Given the description of an element on the screen output the (x, y) to click on. 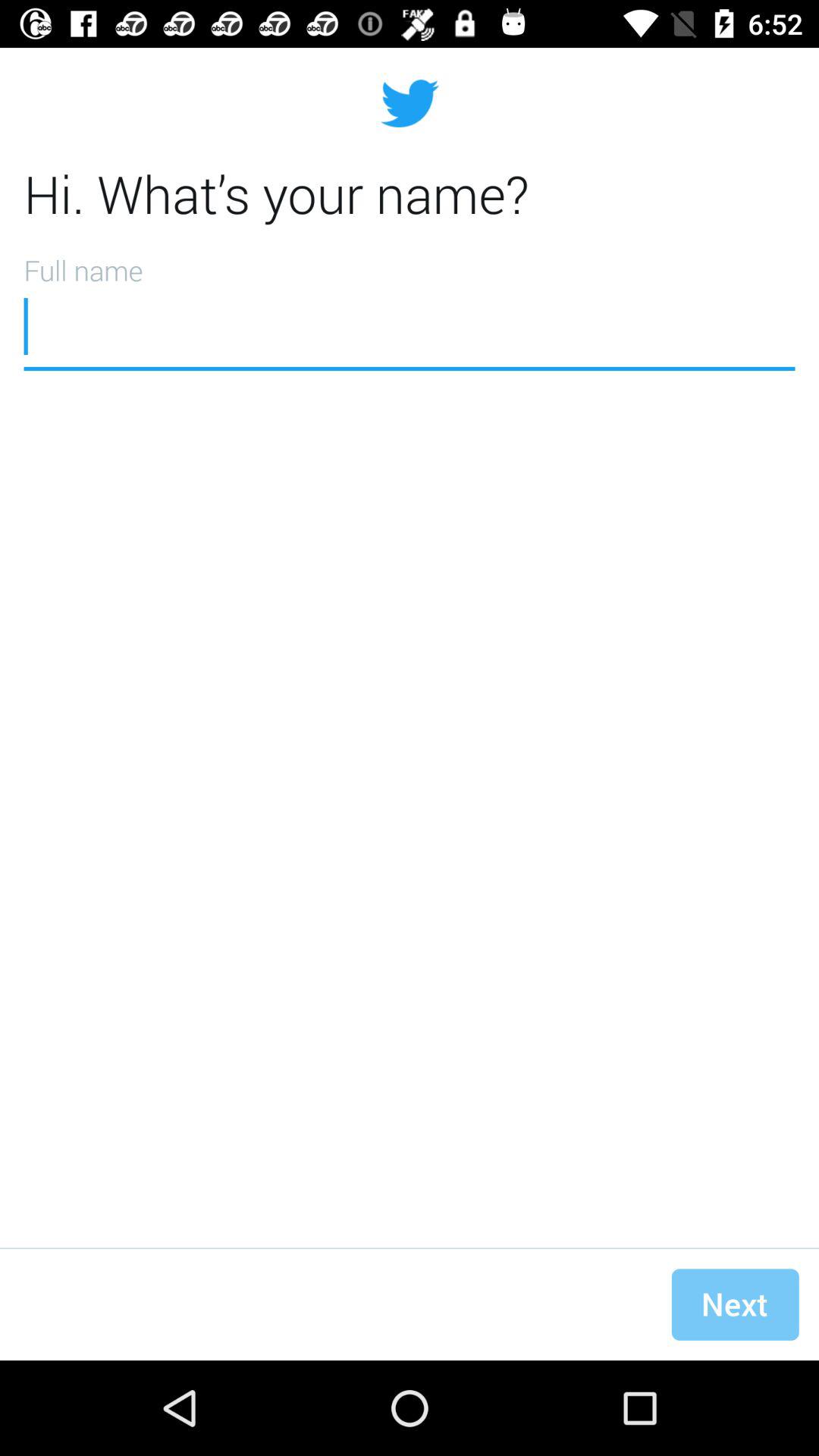
click item at the bottom right corner (735, 1304)
